Given the description of an element on the screen output the (x, y) to click on. 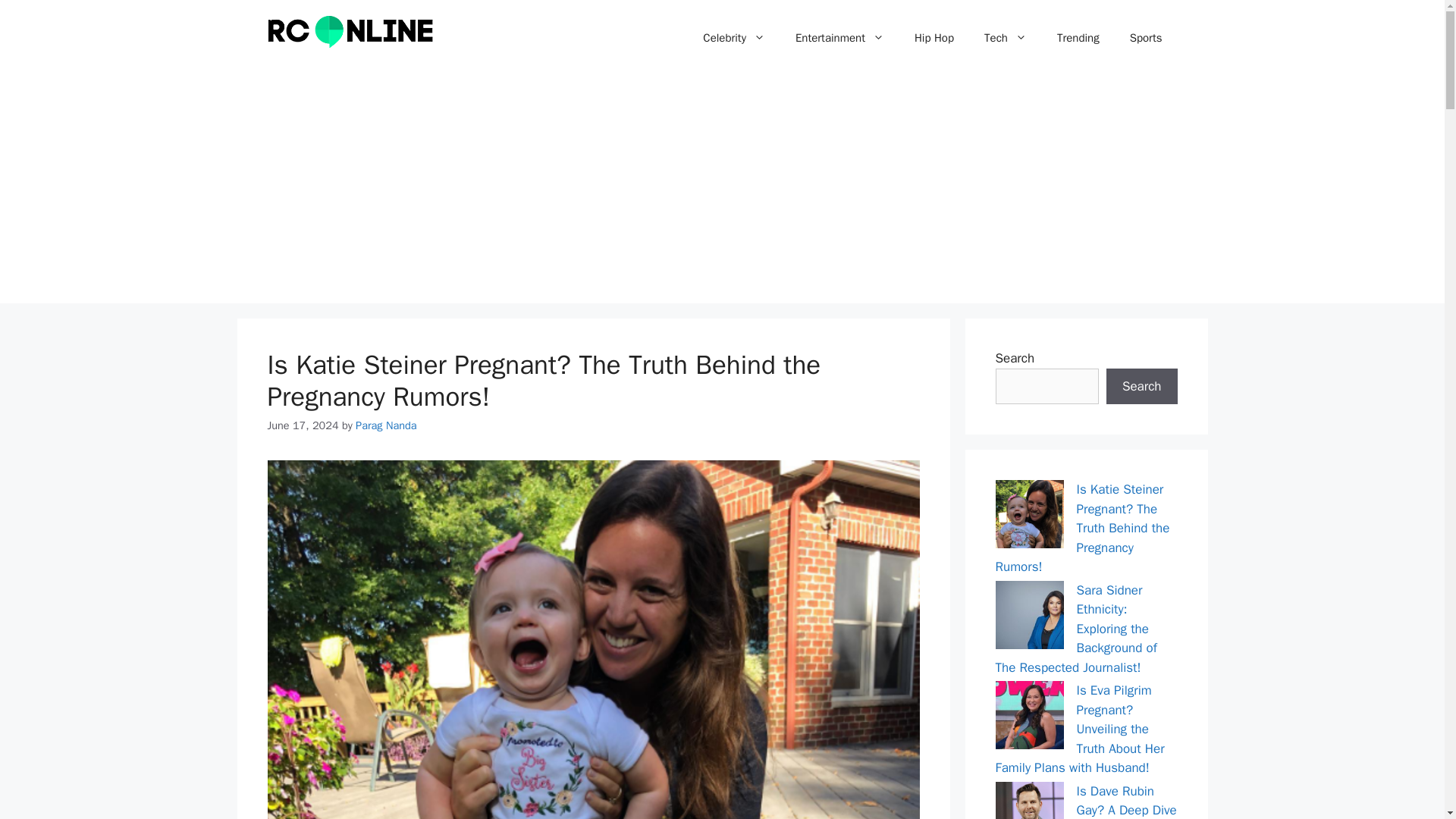
Trending (1078, 37)
View all posts by Parag Nanda (385, 425)
Celebrity (733, 37)
Hip Hop (934, 37)
Entertainment (839, 37)
Parag Nanda (385, 425)
Sports (1146, 37)
Tech (1005, 37)
